Given the description of an element on the screen output the (x, y) to click on. 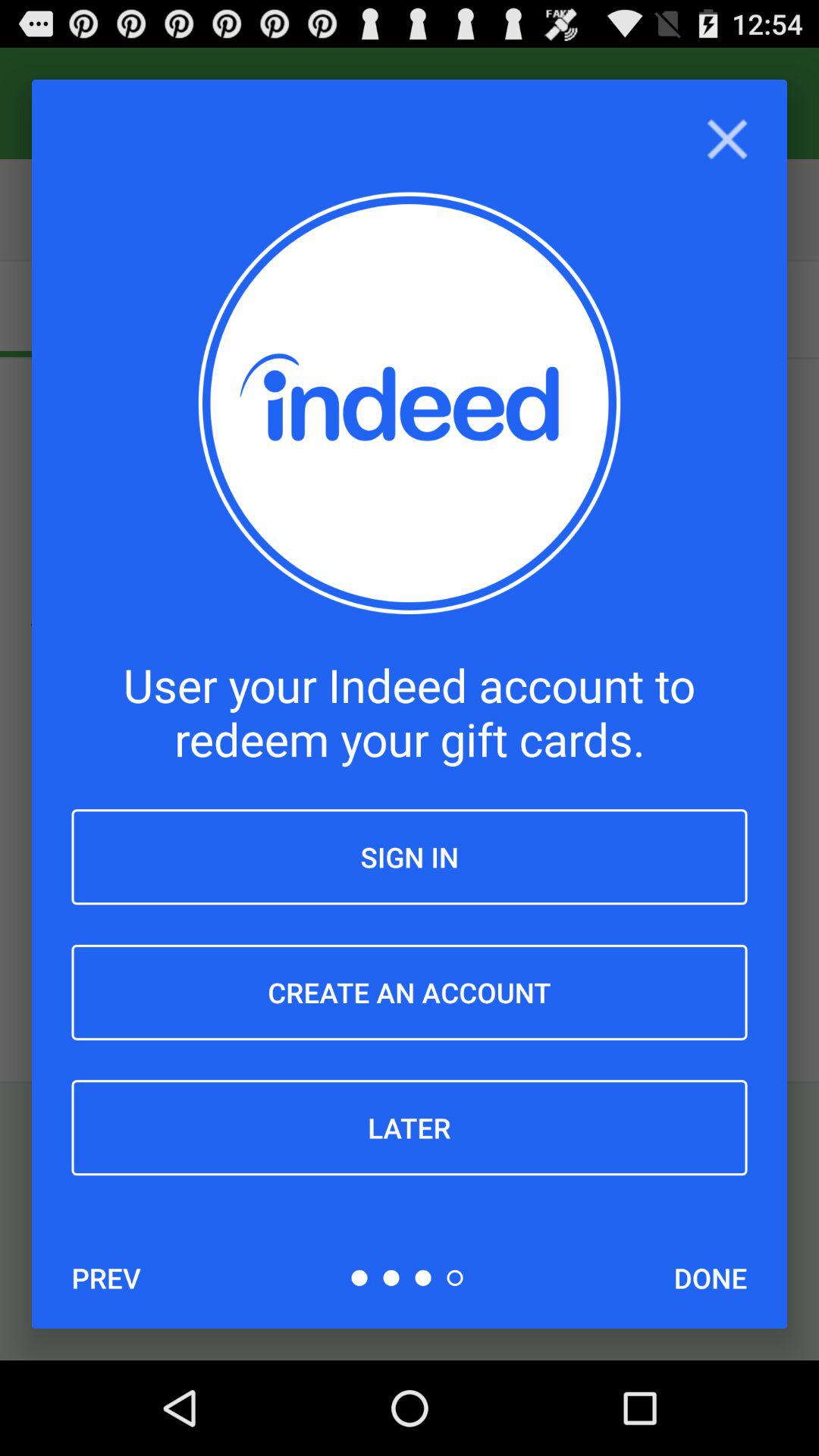
close (727, 139)
